Given the description of an element on the screen output the (x, y) to click on. 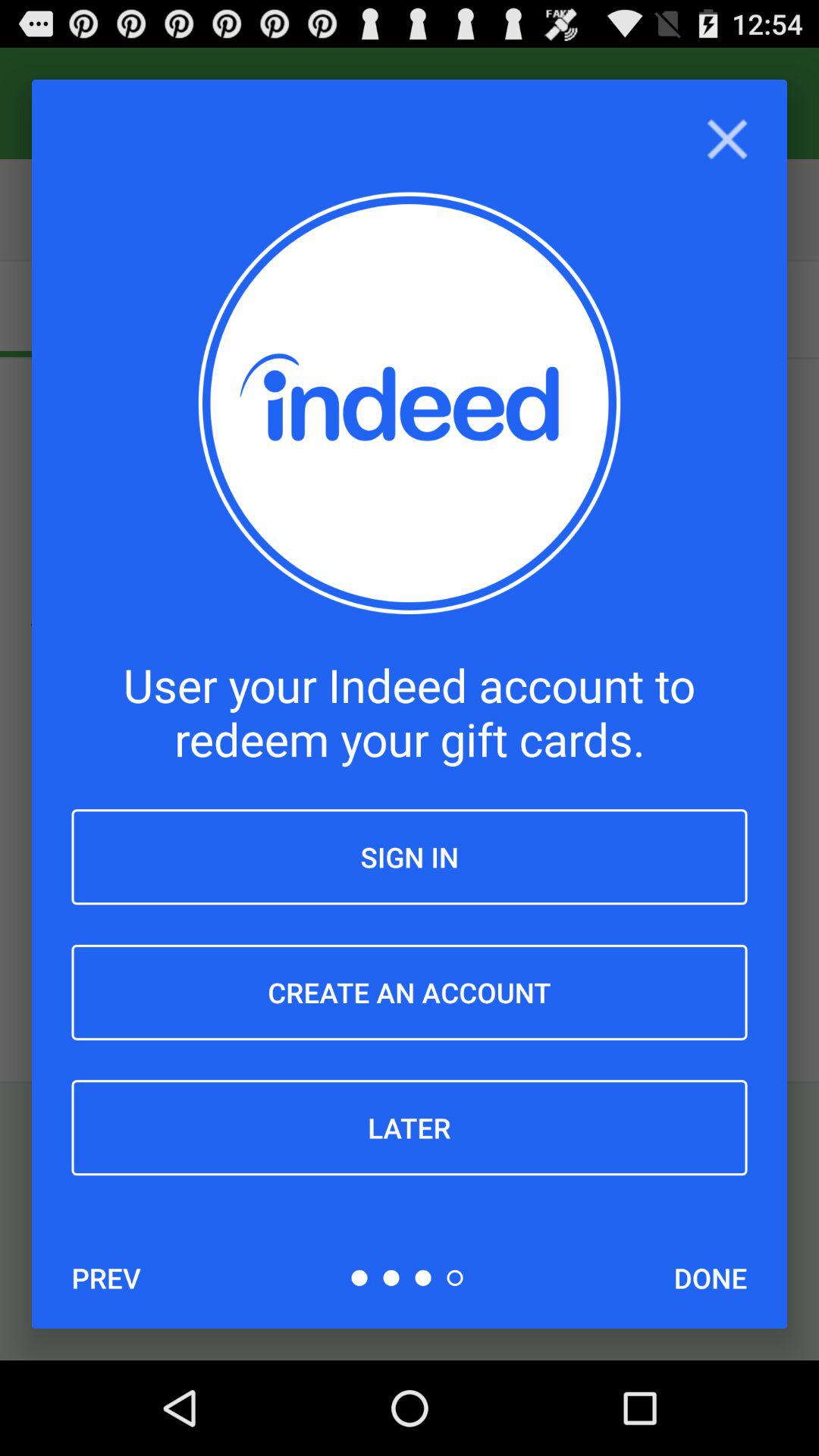
close (727, 139)
